Given the description of an element on the screen output the (x, y) to click on. 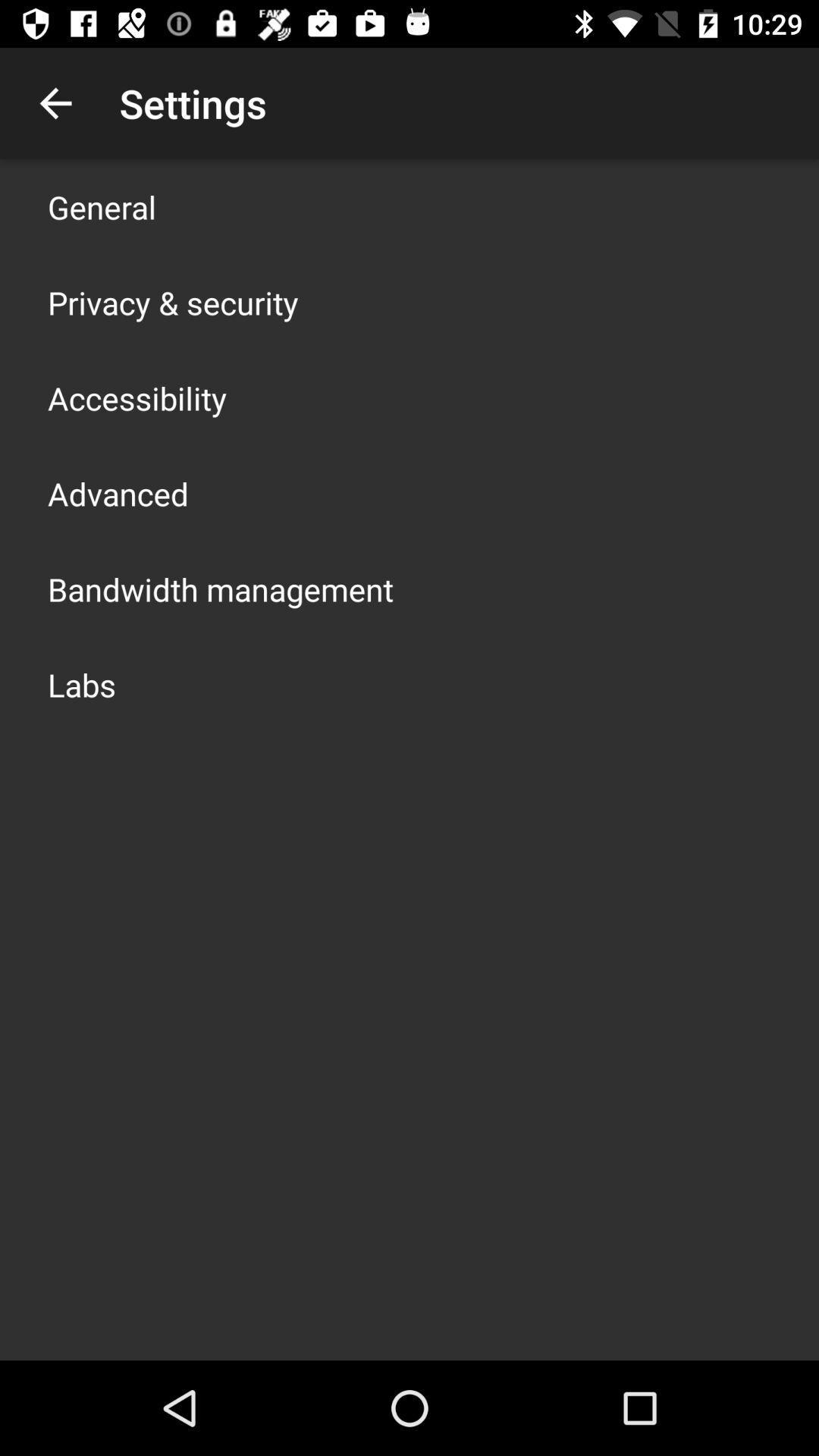
jump to the labs (81, 684)
